Given the description of an element on the screen output the (x, y) to click on. 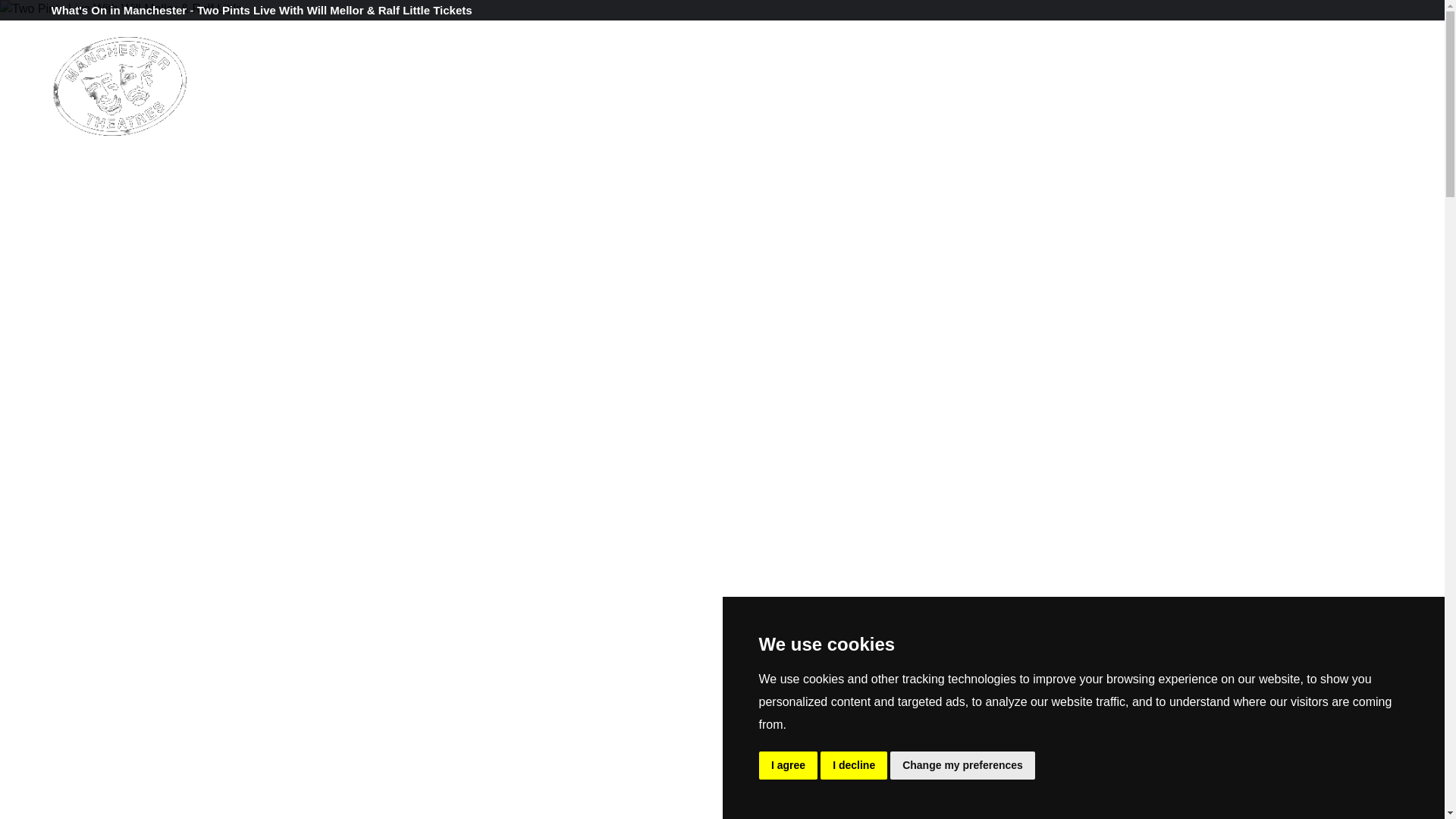
I decline (853, 765)
What's On in Manchester (120, 10)
I agree (787, 765)
Highlights (479, 82)
Change my preferences (962, 765)
Calendar (379, 82)
